Given the description of an element on the screen output the (x, y) to click on. 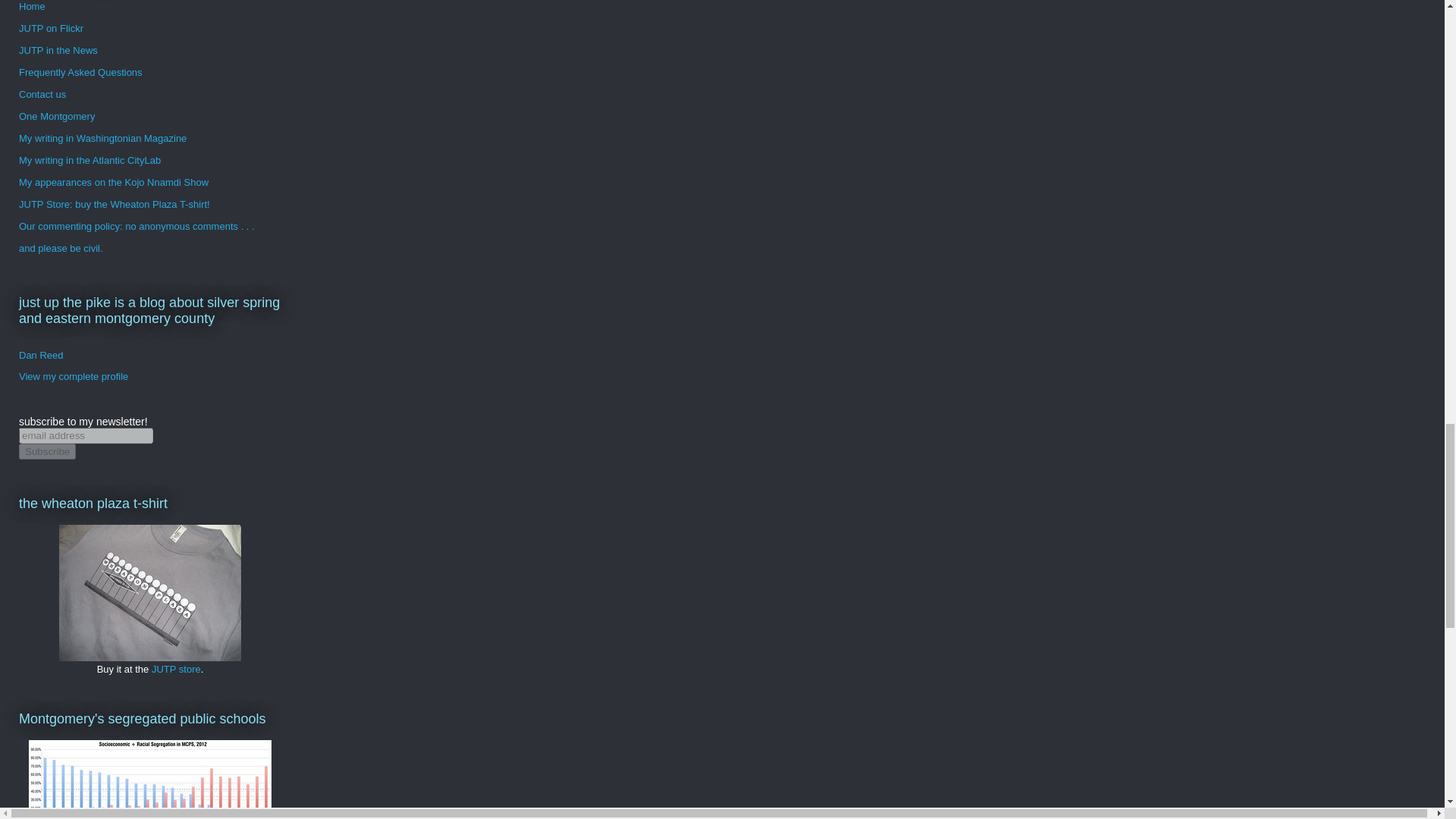
Subscribe (46, 451)
